Given the description of an element on the screen output the (x, y) to click on. 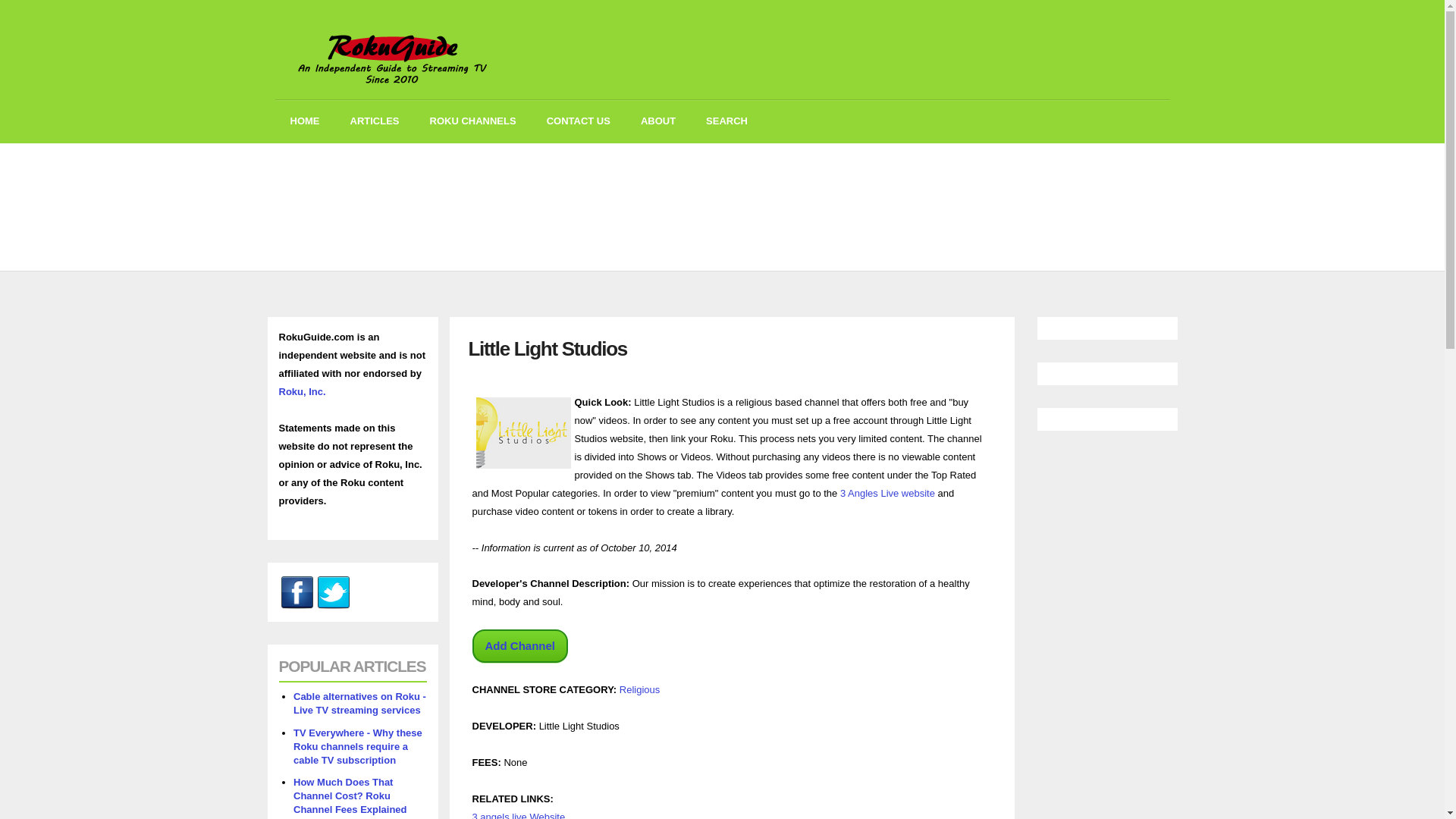
ABOUT (658, 121)
HOME (304, 121)
ROKU CHANNELS (472, 121)
SEARCH (726, 121)
Contact form. (578, 121)
3 Angles Live website (887, 492)
Religious (639, 689)
Cable alternatives on Roku - Live TV streaming services (360, 703)
CONTACT US (578, 121)
About RokuGuide.com (658, 121)
Roku, Inc. (302, 391)
Roku Guide articles, reviews, updates and recommendations (374, 121)
Add Channel (519, 645)
How Much Does That Channel Cost? Roku Channel Fees Explained (350, 795)
